Given the description of an element on the screen output the (x, y) to click on. 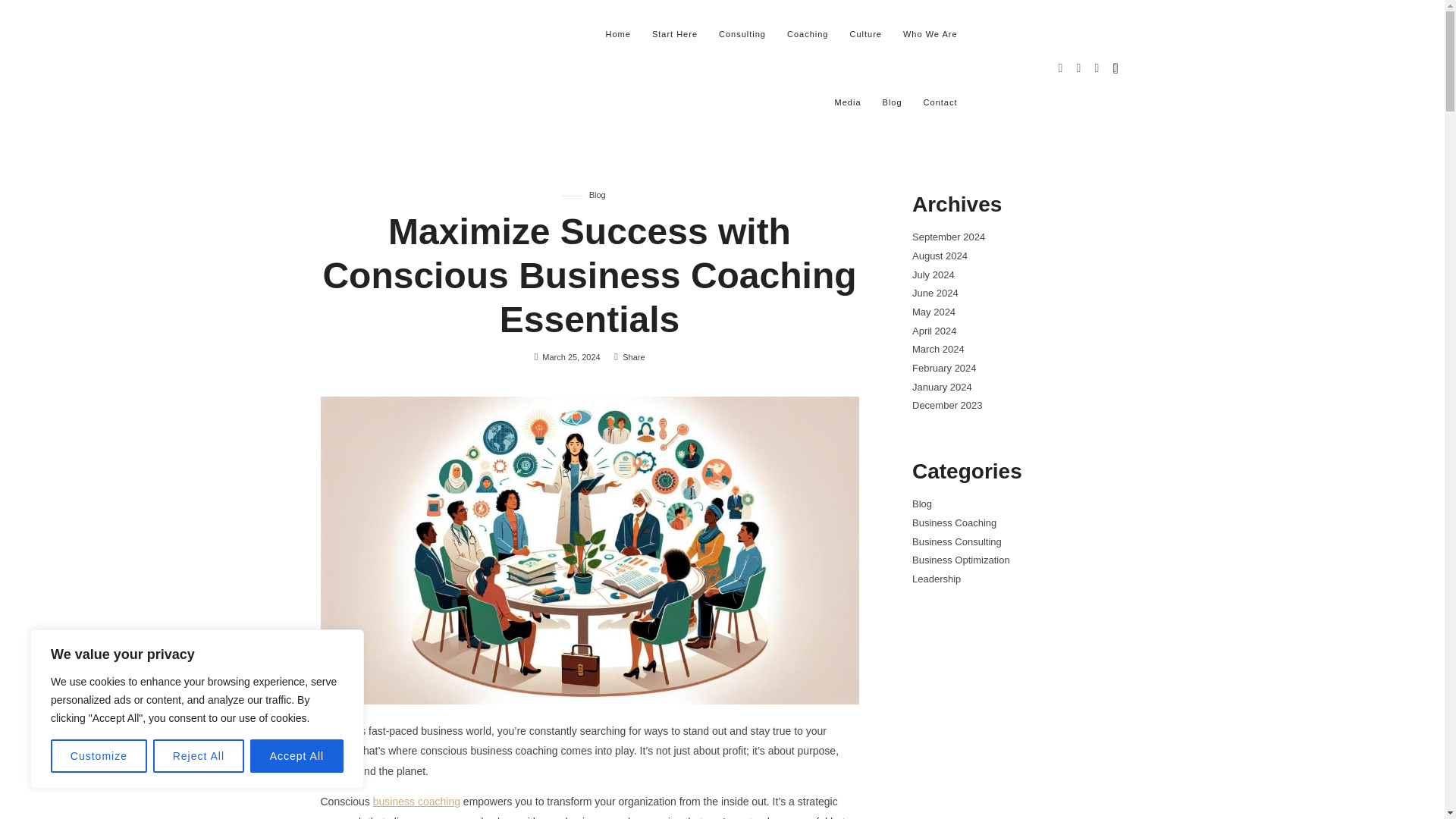
Customize (98, 756)
Who We Are (930, 33)
Accept All (296, 756)
business coaching (416, 801)
Consulting (741, 33)
Coaching (807, 33)
Start Here (675, 33)
Reject All (198, 756)
